Given the description of an element on the screen output the (x, y) to click on. 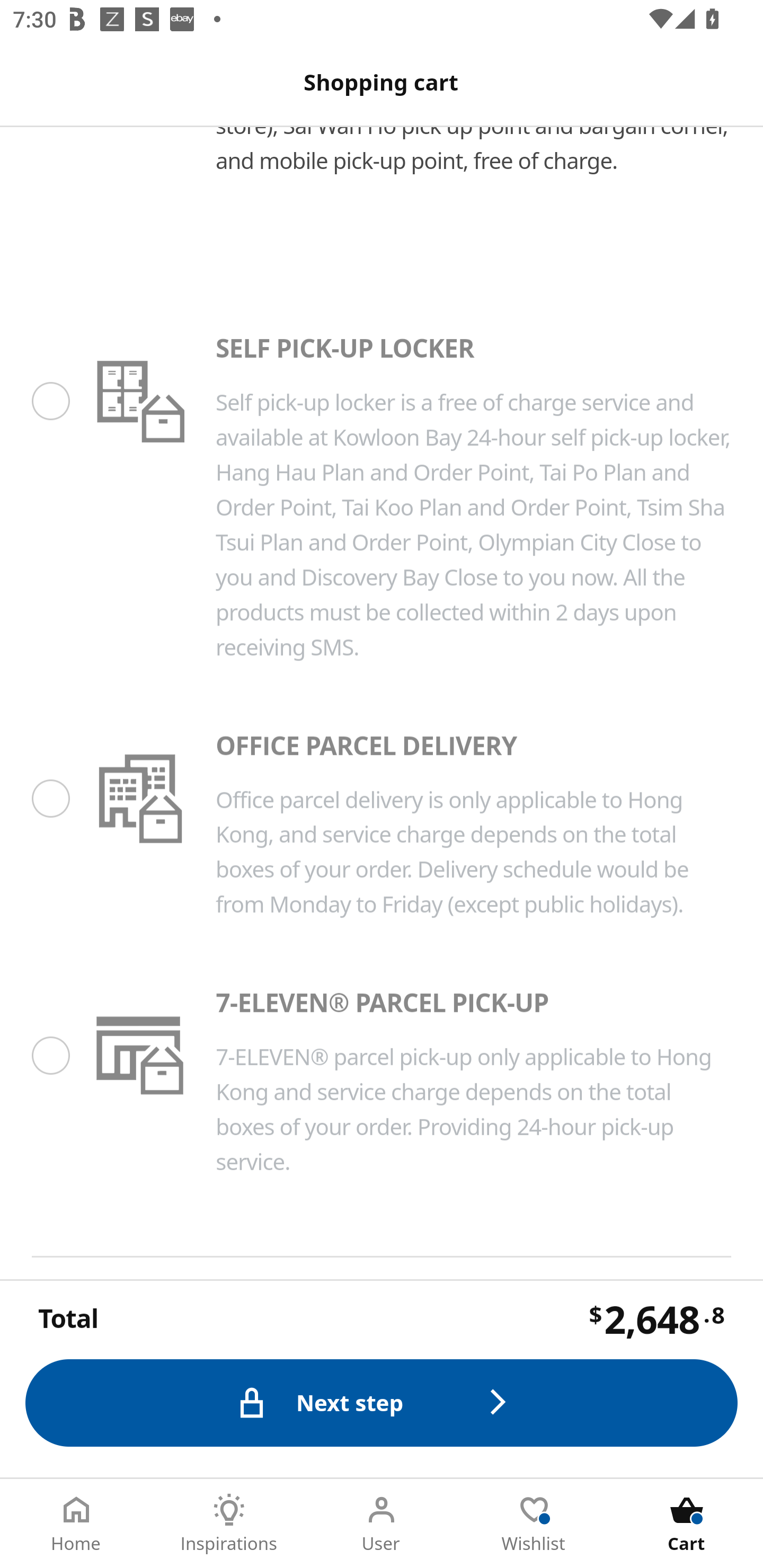
Click to add (369, 1326)
 Next step  (381, 1404)
Home
Tab 1 of 5 (76, 1522)
Inspirations
Tab 2 of 5 (228, 1522)
User
Tab 3 of 5 (381, 1522)
Wishlist
Tab 4 of 5 (533, 1522)
Cart
Tab 5 of 5 (686, 1522)
